Given the description of an element on the screen output the (x, y) to click on. 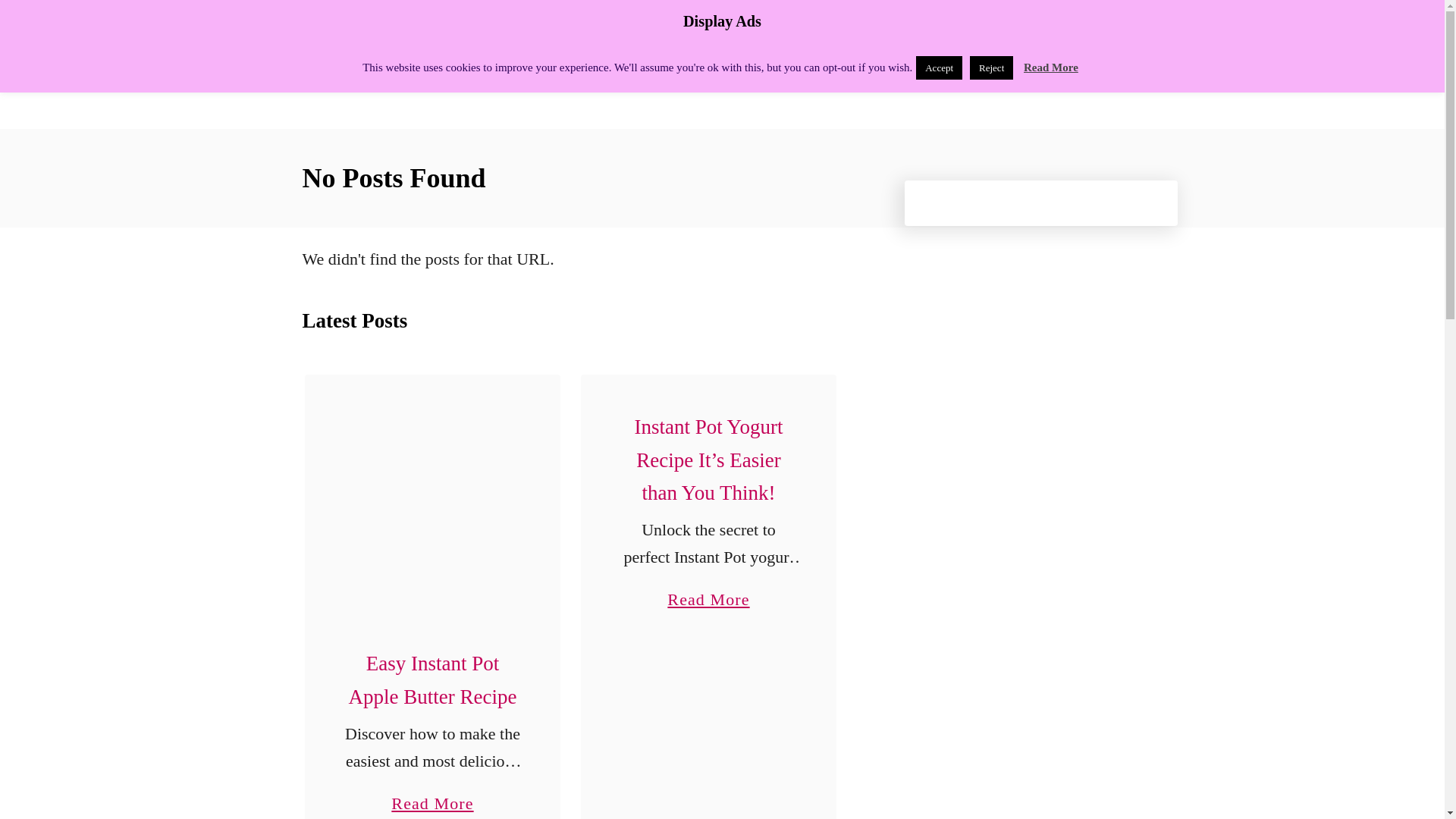
Mommy's Memorandum (433, 64)
Easy Instant Pot Apple Butter Recipe (432, 679)
Accept (938, 67)
Reject (991, 67)
Easy Instant Pot Apple Butter Recipe (432, 502)
Read More (1050, 67)
